Given the description of an element on the screen output the (x, y) to click on. 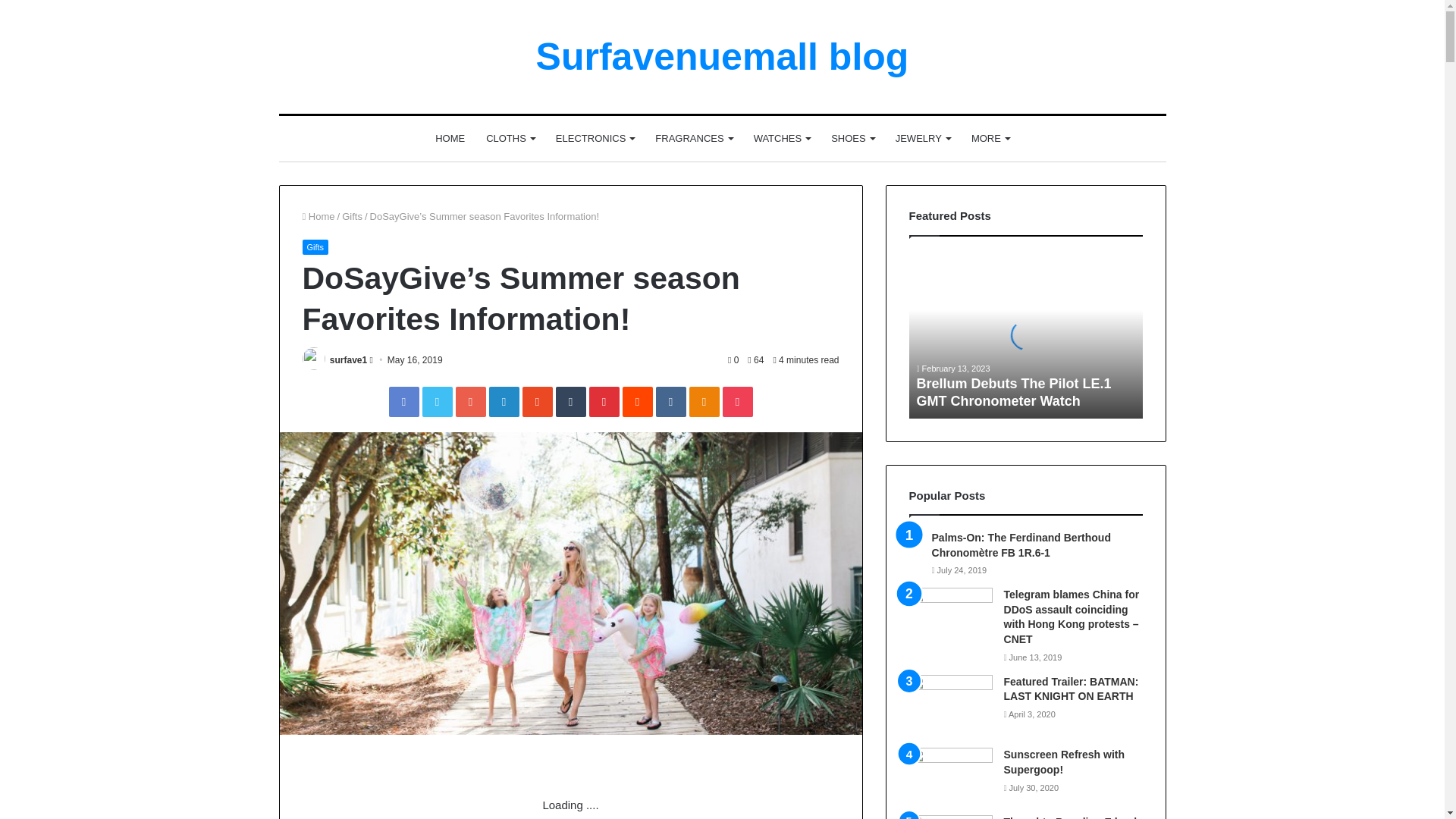
MORE (990, 138)
StumbleUpon (536, 401)
Gifts (315, 246)
SHOES (853, 138)
surfave1 (348, 359)
JEWELRY (922, 138)
VKontakte (670, 401)
LinkedIn (502, 401)
Reddit (636, 401)
WATCHES (781, 138)
